Given the description of an element on the screen output the (x, y) to click on. 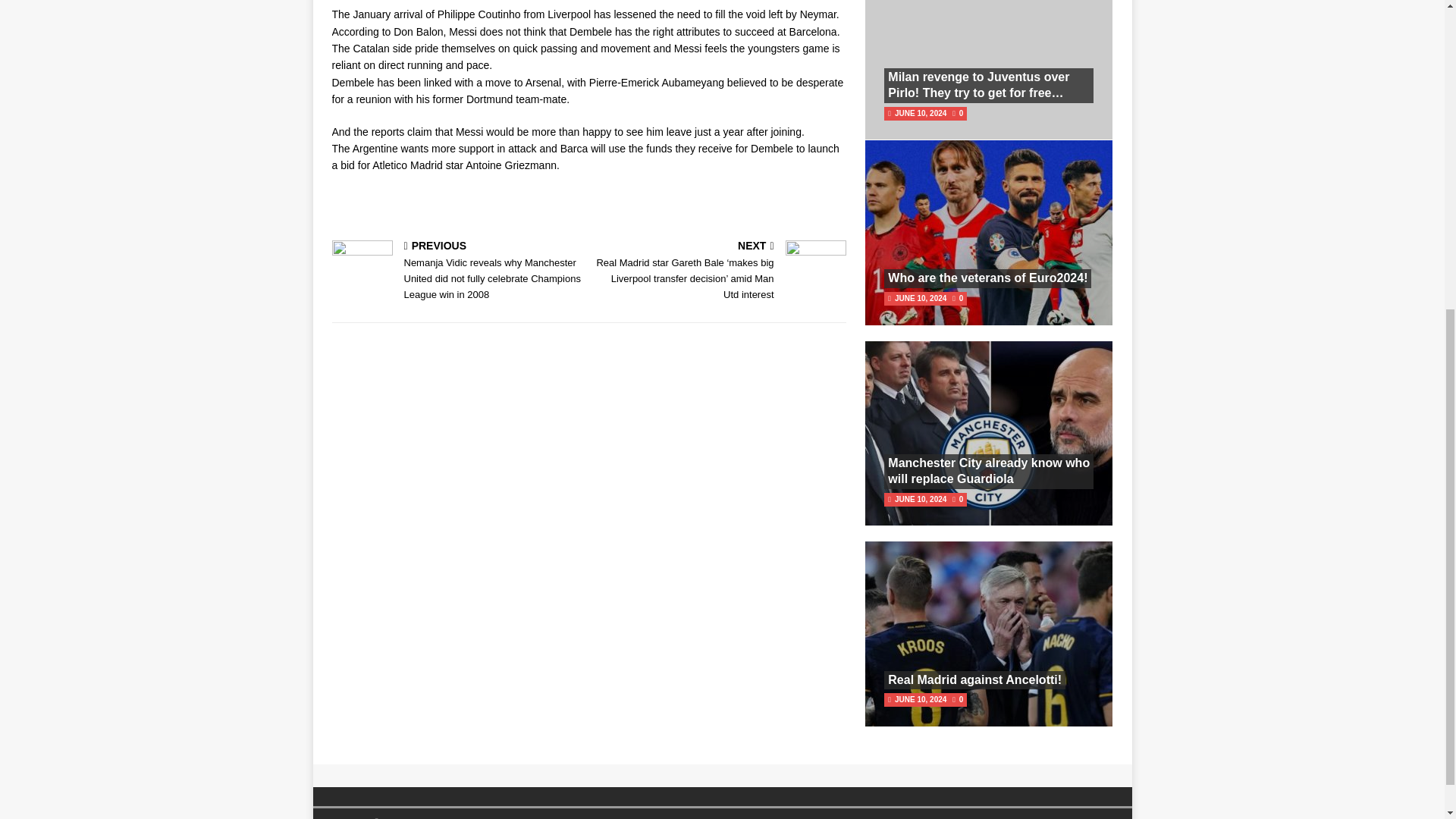
Manchester City already know who will replace Guardiola (988, 470)
Who are the veterans of Euro2024! (987, 277)
Manchester City already know who will replace Guardiola (988, 470)
Real Madrid against Ancelotti! (974, 679)
Real Madrid against Ancelotti! (974, 679)
Who are the veterans of Euro2024! (987, 277)
